Given the description of an element on the screen output the (x, y) to click on. 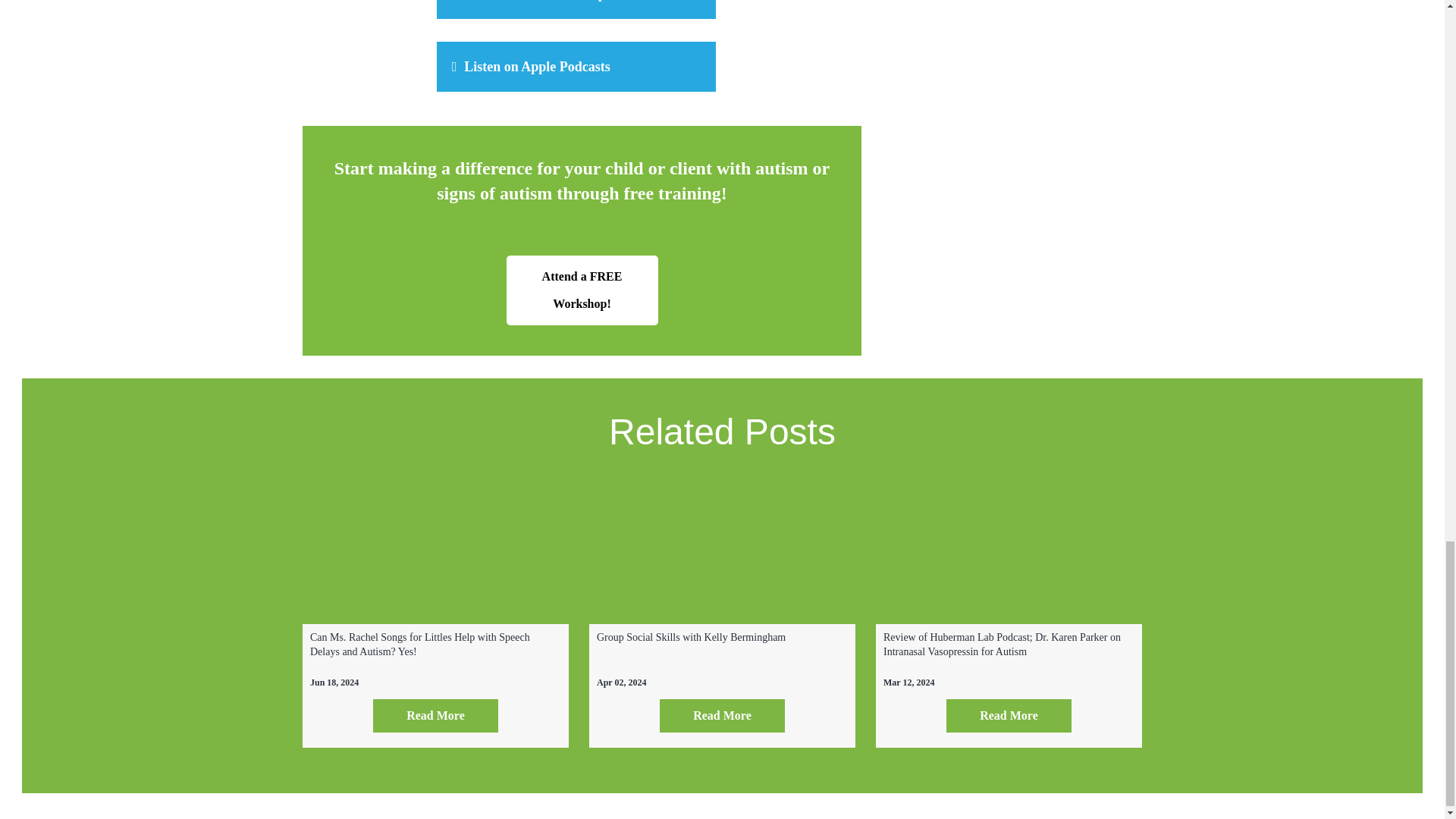
Download the Transcript (576, 9)
Listen on Apple Podcasts (576, 66)
Attend a FREE Workshop! (582, 290)
